Given the description of an element on the screen output the (x, y) to click on. 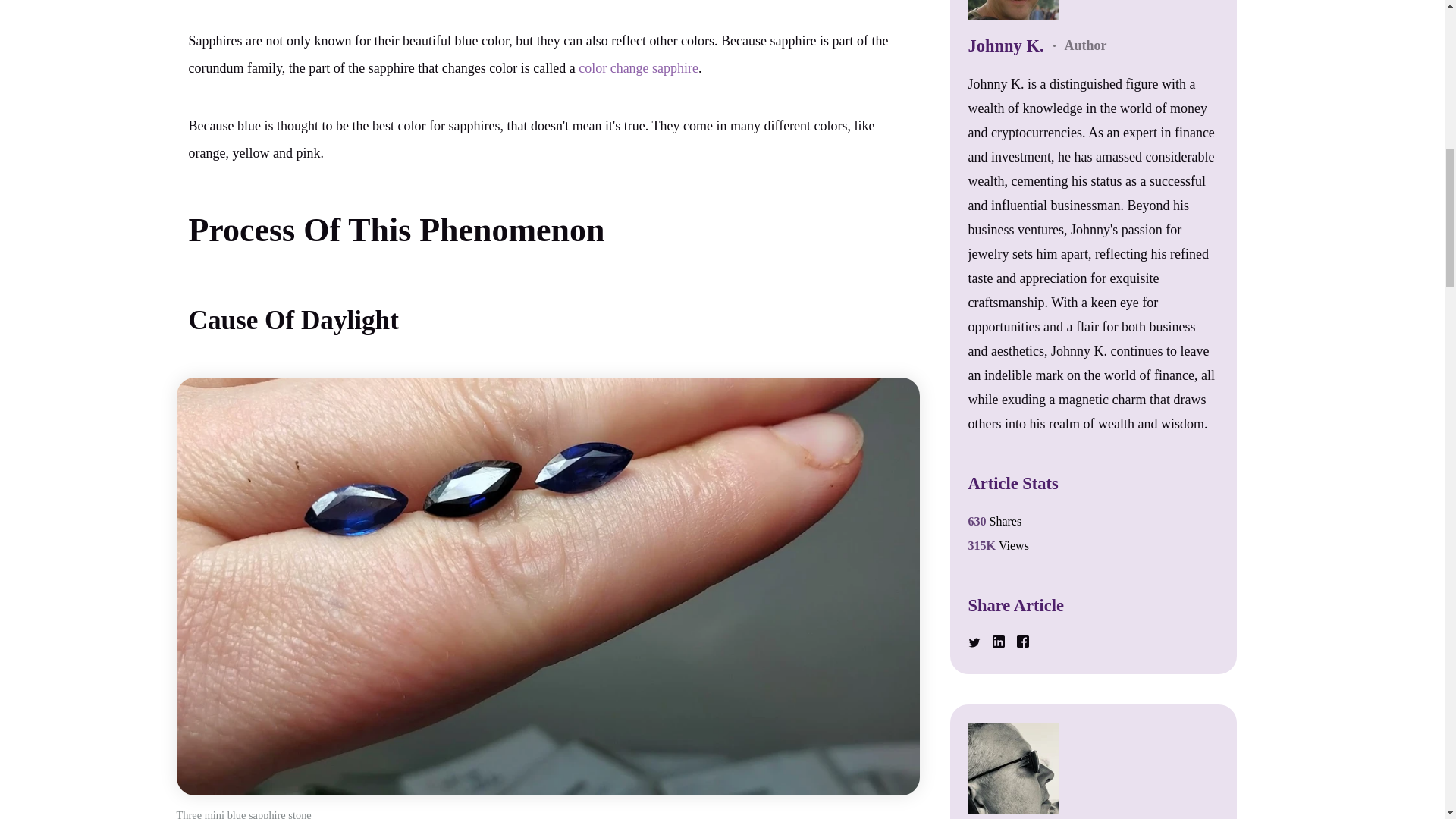
Process Of This Phenomenon (395, 229)
Cause Of Daylight (292, 319)
